Given the description of an element on the screen output the (x, y) to click on. 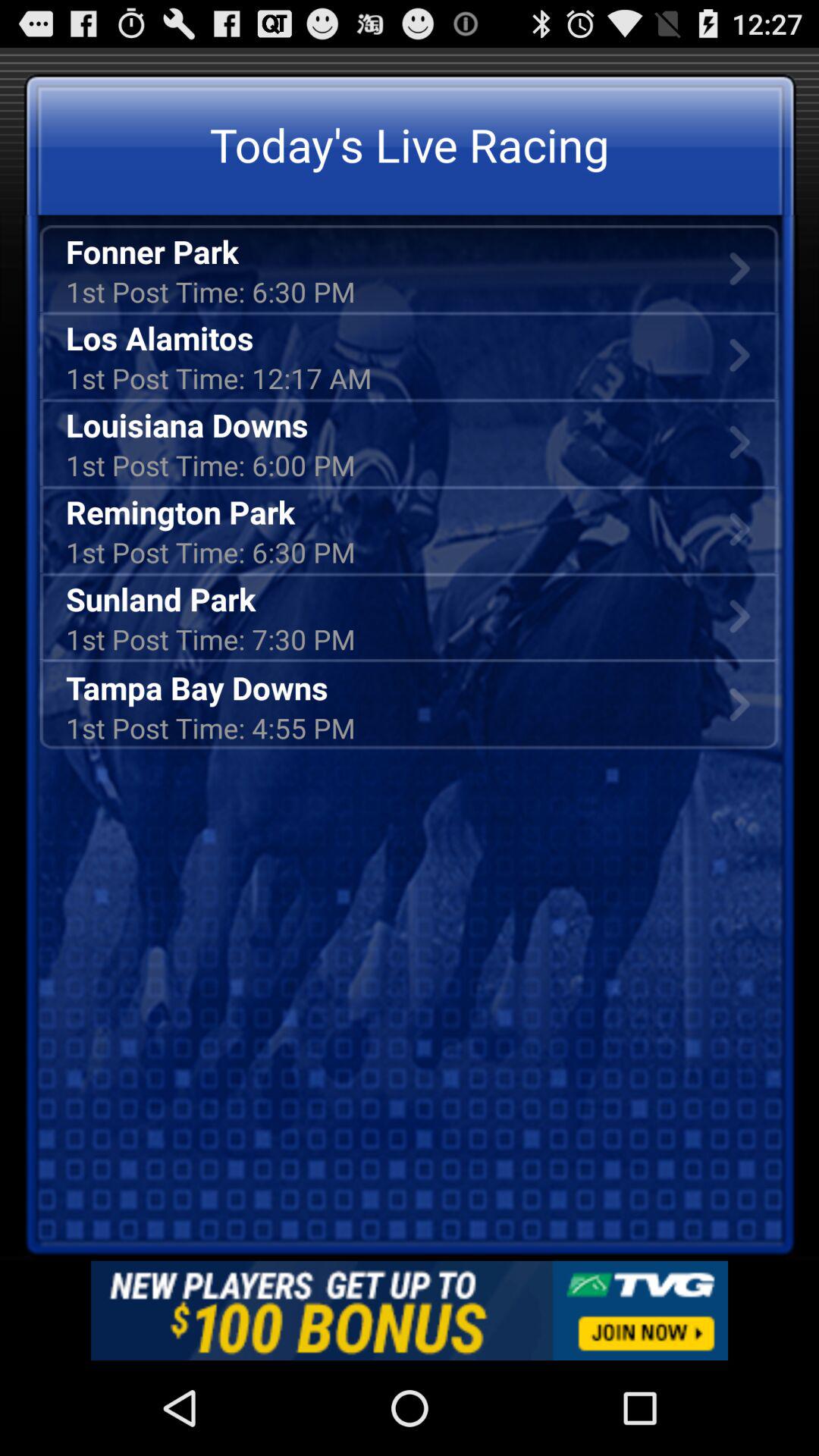
select the addvertisement (409, 1310)
